Given the description of an element on the screen output the (x, y) to click on. 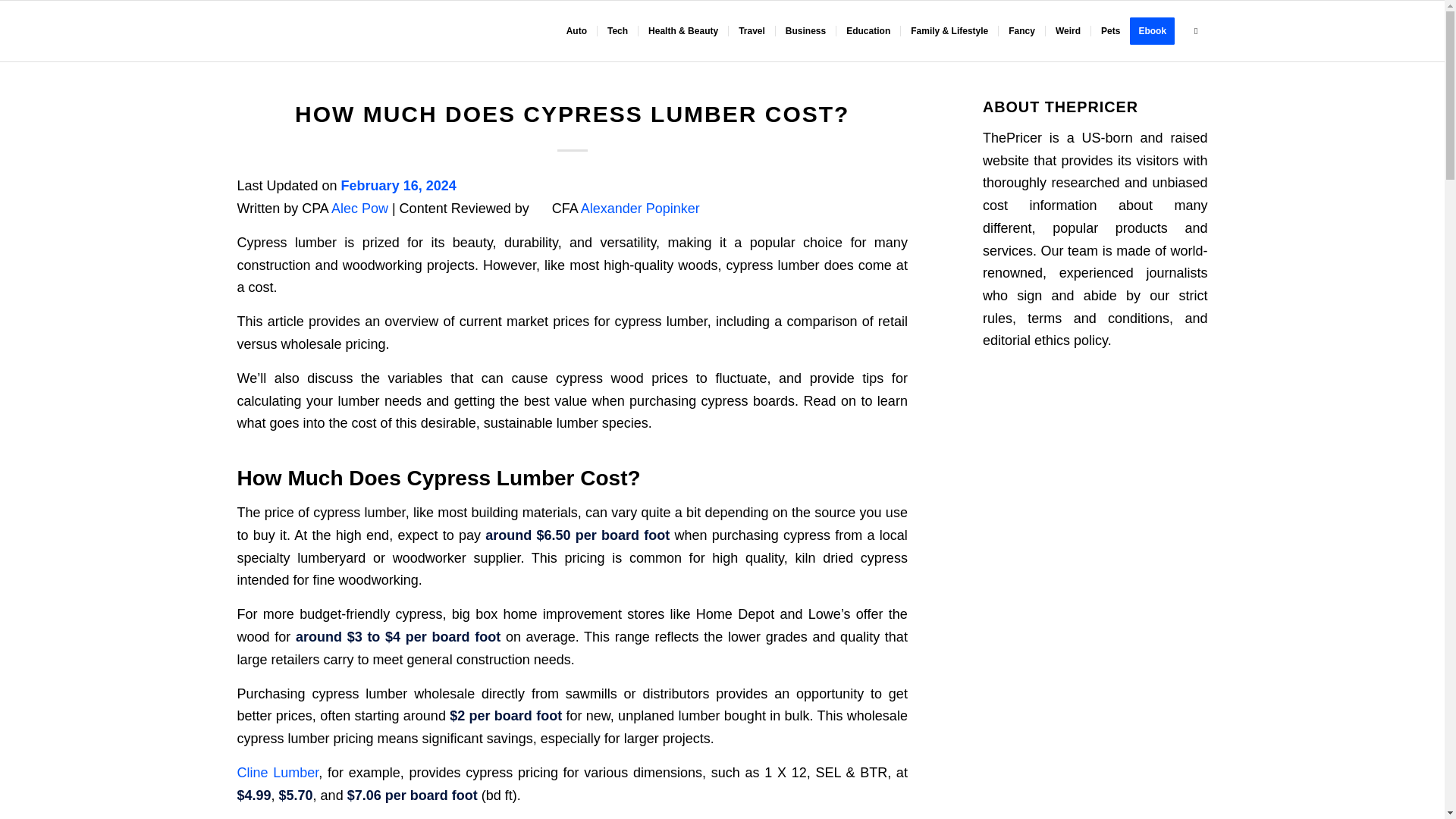
Education (867, 30)
Business (804, 30)
thepricerlogobig (327, 30)
Ebook (1157, 30)
